Given the description of an element on the screen output the (x, y) to click on. 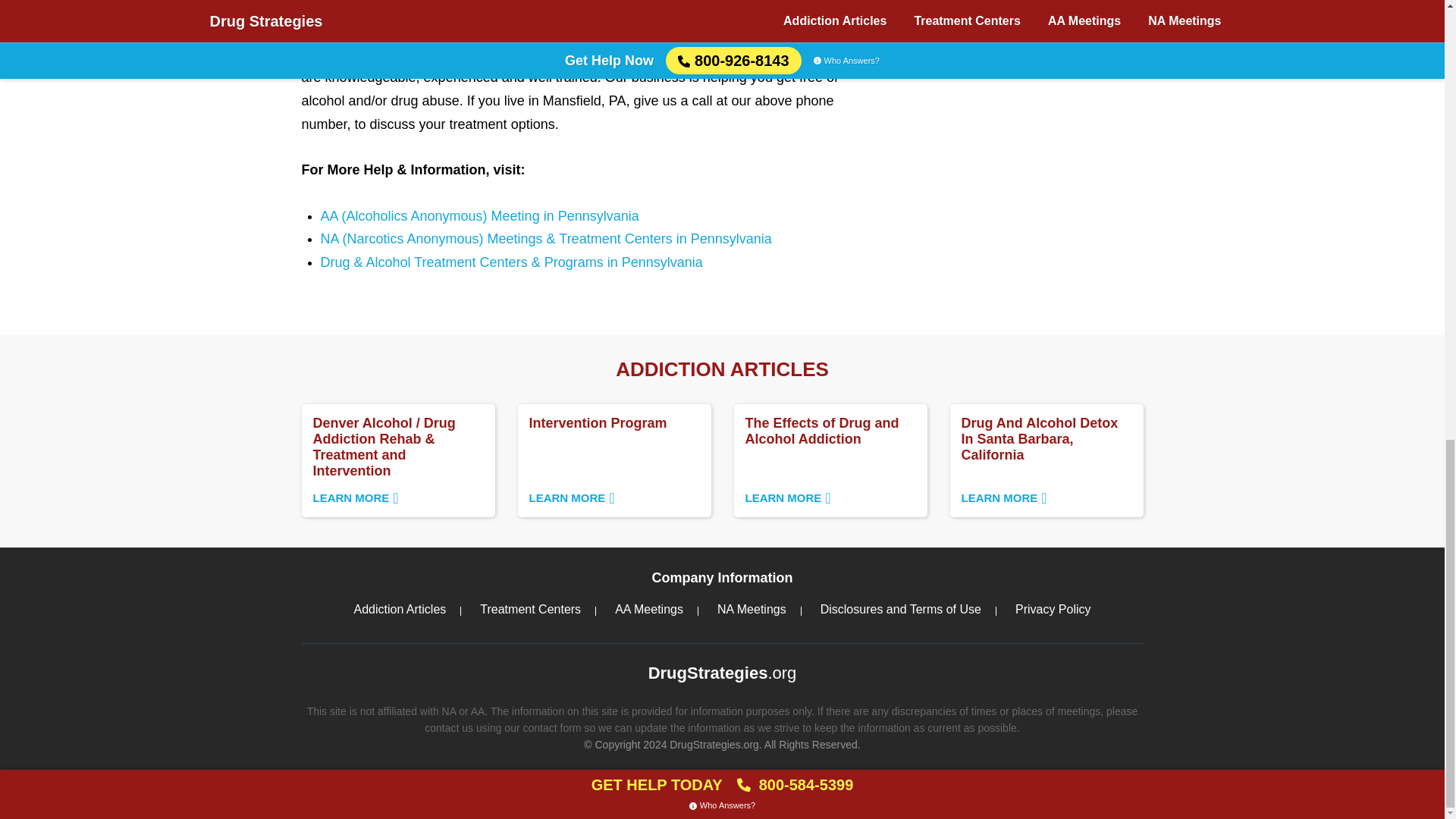
DrugStrategies.org (721, 673)
NA Meetings (751, 608)
AA Meetings (648, 608)
Addiction Articles (830, 460)
Disclosures and Terms of Use (399, 608)
Treatment Centers (613, 460)
Privacy Policy (900, 608)
